Given the description of an element on the screen output the (x, y) to click on. 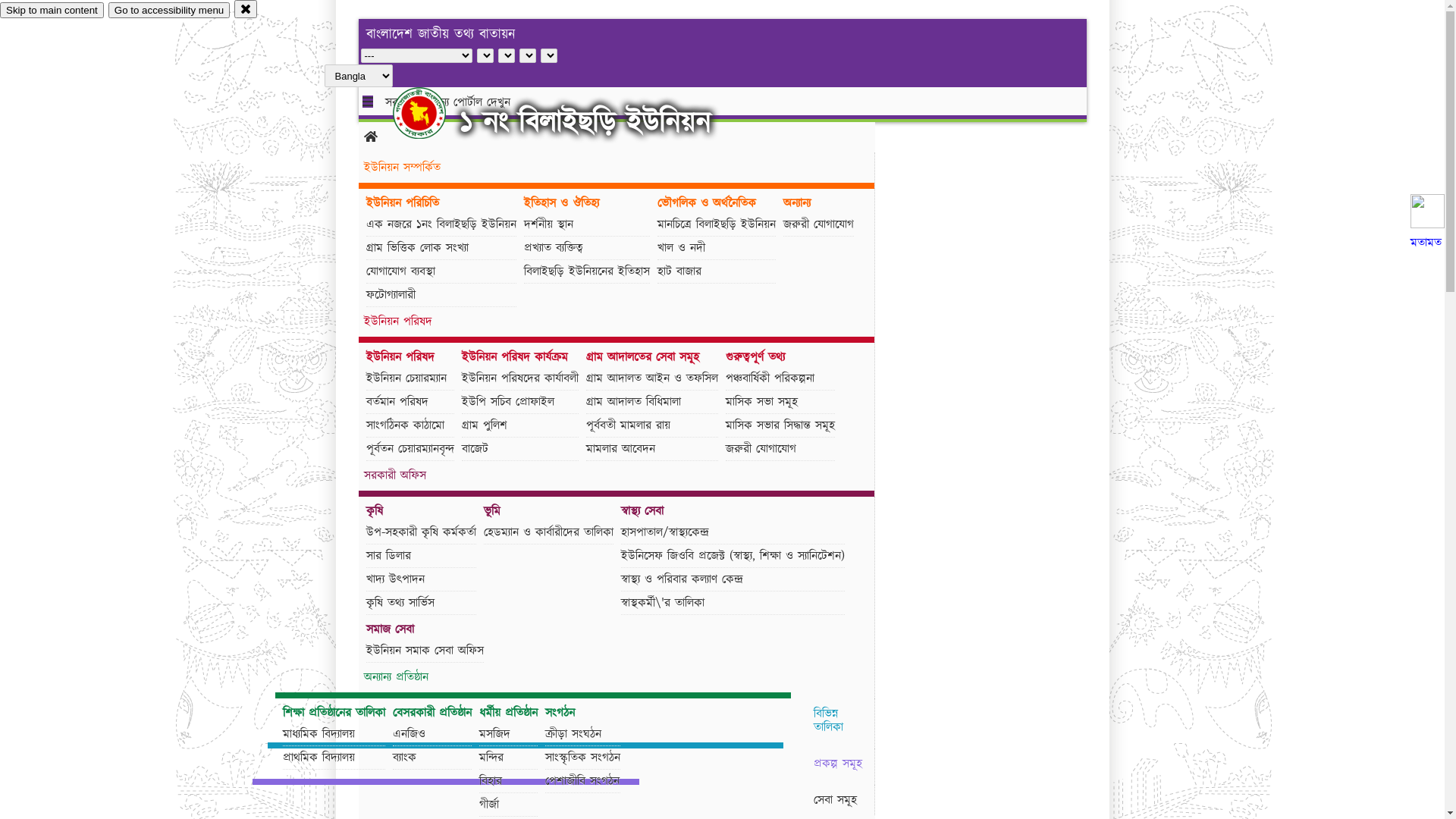
Go to accessibility menu Element type: text (168, 10)
Skip to main content Element type: text (51, 10)
close Element type: hover (245, 9)

                
             Element type: hover (431, 112)
